Given the description of an element on the screen output the (x, y) to click on. 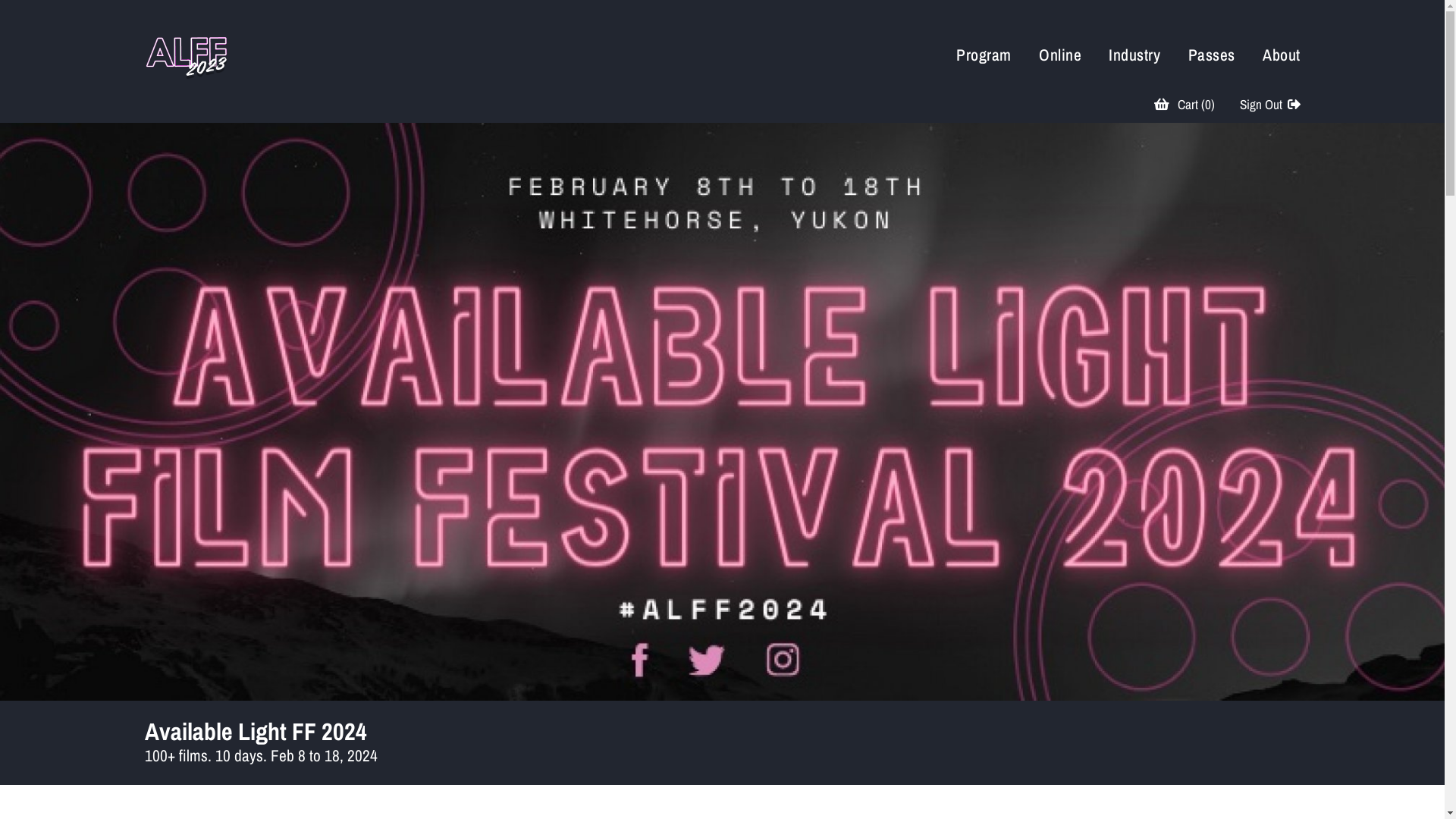
About Element type: text (1281, 54)
Program Element type: text (983, 54)
Sign Out Element type: text (1269, 103)
Cart (0) Element type: text (1184, 103)
Available Light FF 2024 Element type: text (255, 731)
Passes Element type: text (1211, 54)
Industry Element type: text (1134, 54)
100+ films. 10 days. Feb 8 to 18, 2024 Element type: text (260, 755)
Online Element type: text (1059, 54)
